Given the description of an element on the screen output the (x, y) to click on. 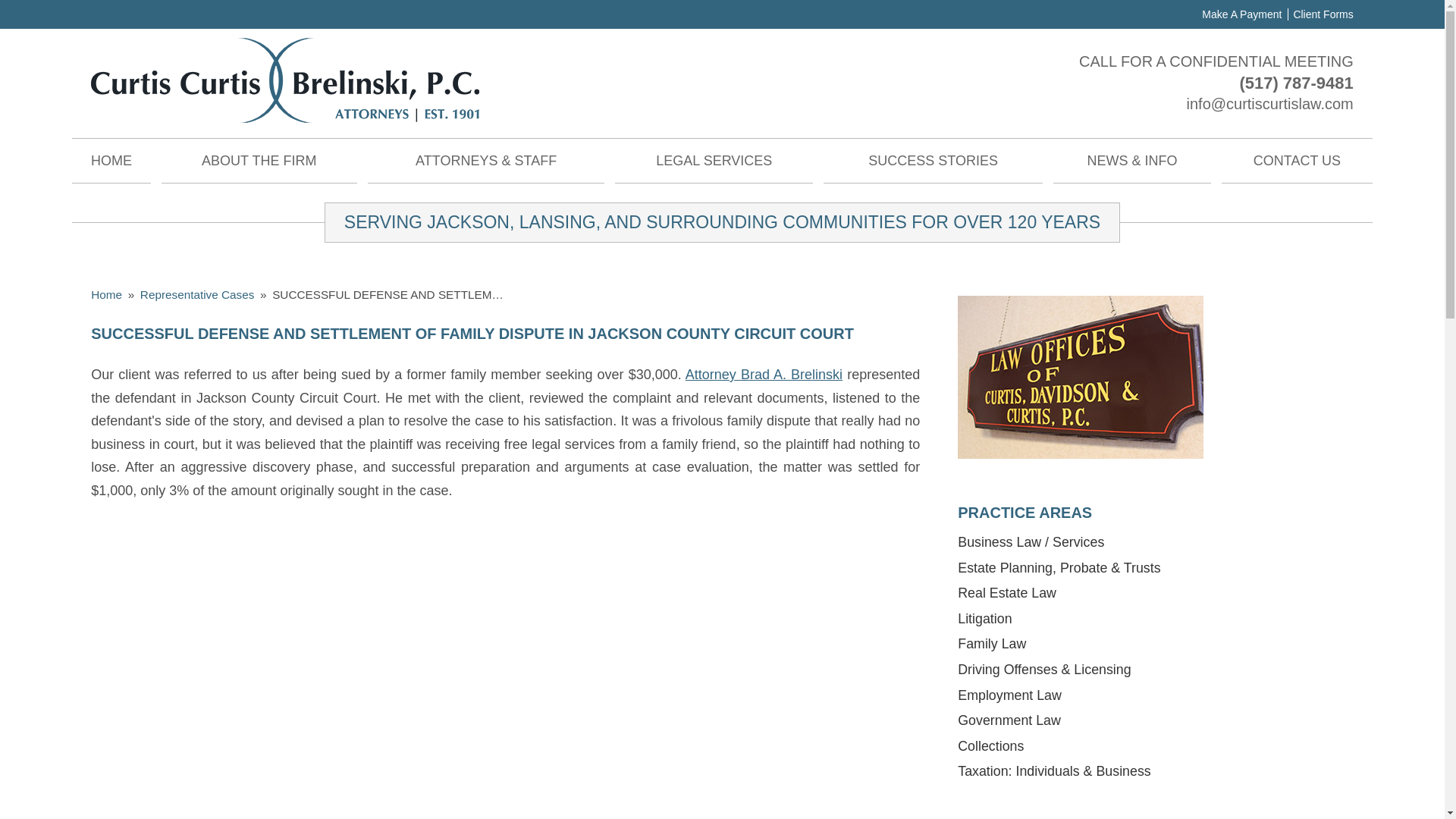
HOME (110, 160)
SUCCESS STORIES (933, 160)
Make A Payment (1241, 14)
Client Forms (1319, 14)
ABOUT THE FIRM (258, 160)
CONTACT US (1297, 160)
Attorney Brad A. Brelinski (764, 374)
Representative Cases (196, 294)
LEGAL SERVICES (713, 160)
Jackson MI Attorney Brad Brelinski (764, 374)
Email (1270, 103)
Home (106, 294)
